Given the description of an element on the screen output the (x, y) to click on. 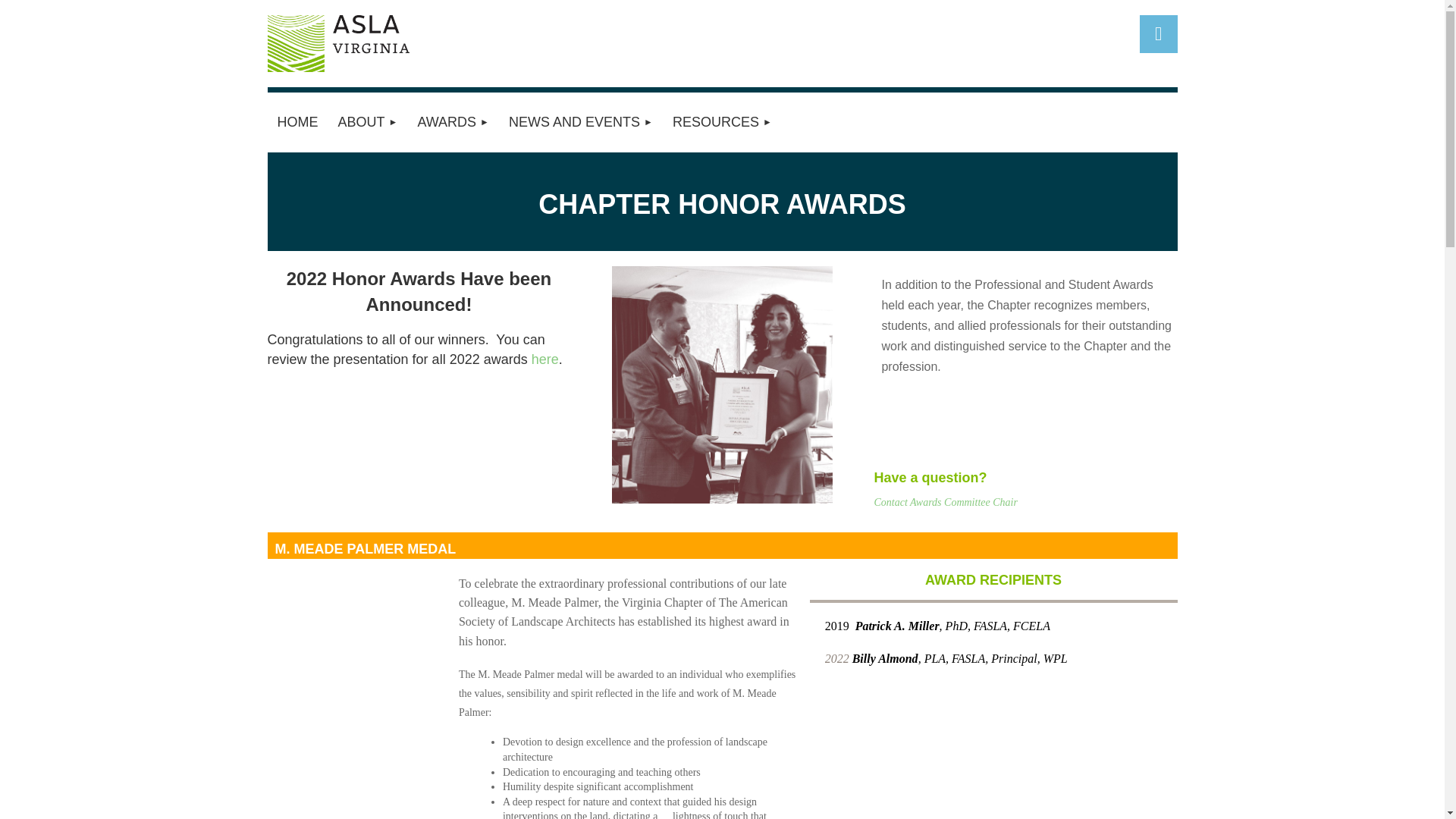
Log in (1157, 34)
HOME (296, 122)
ABOUT (367, 122)
